Given the description of an element on the screen output the (x, y) to click on. 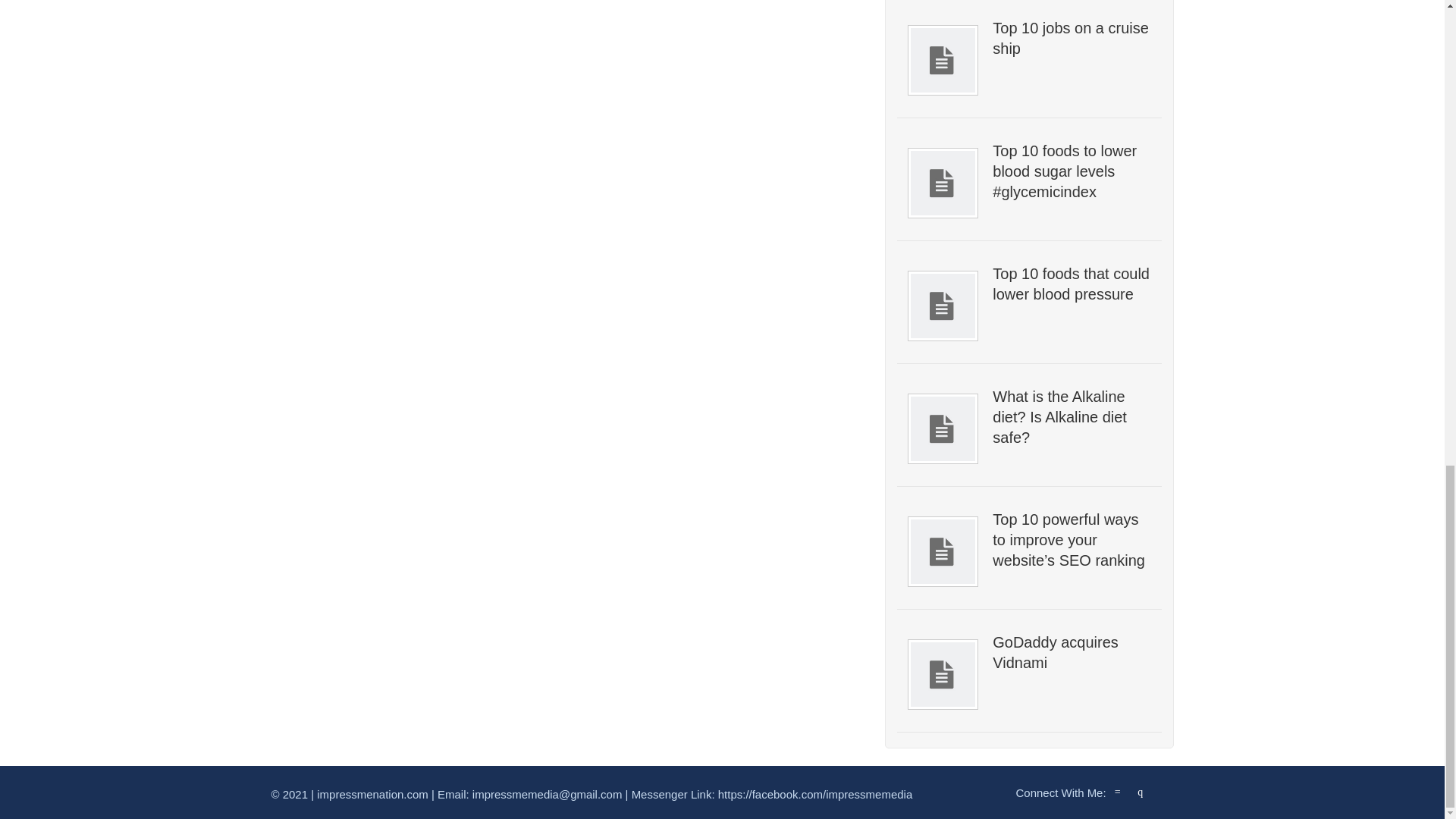
Top 10 jobs on a cruise ship (1071, 38)
